Given the description of an element on the screen output the (x, y) to click on. 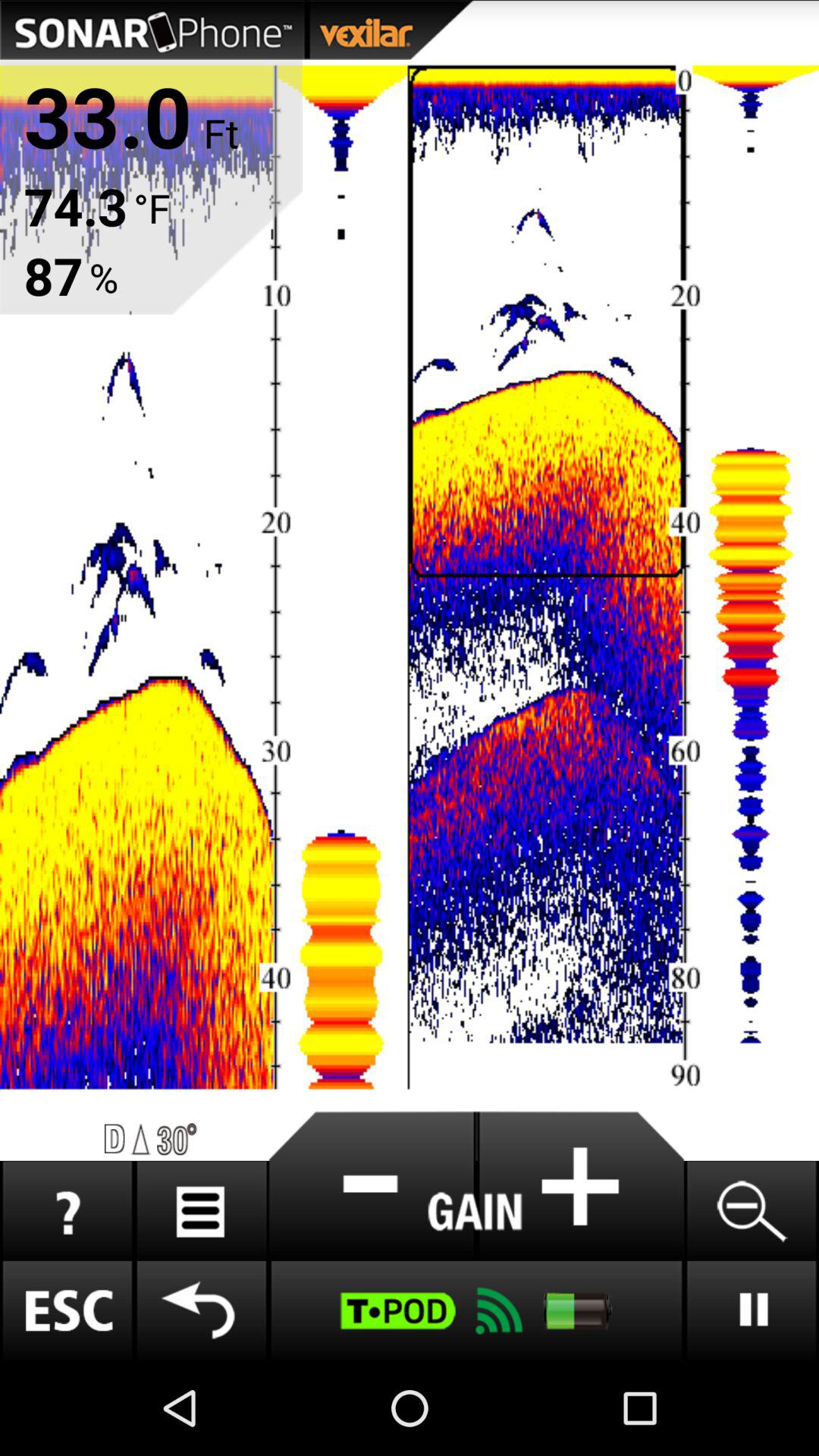
shows the menu option (201, 1210)
